Given the description of an element on the screen output the (x, y) to click on. 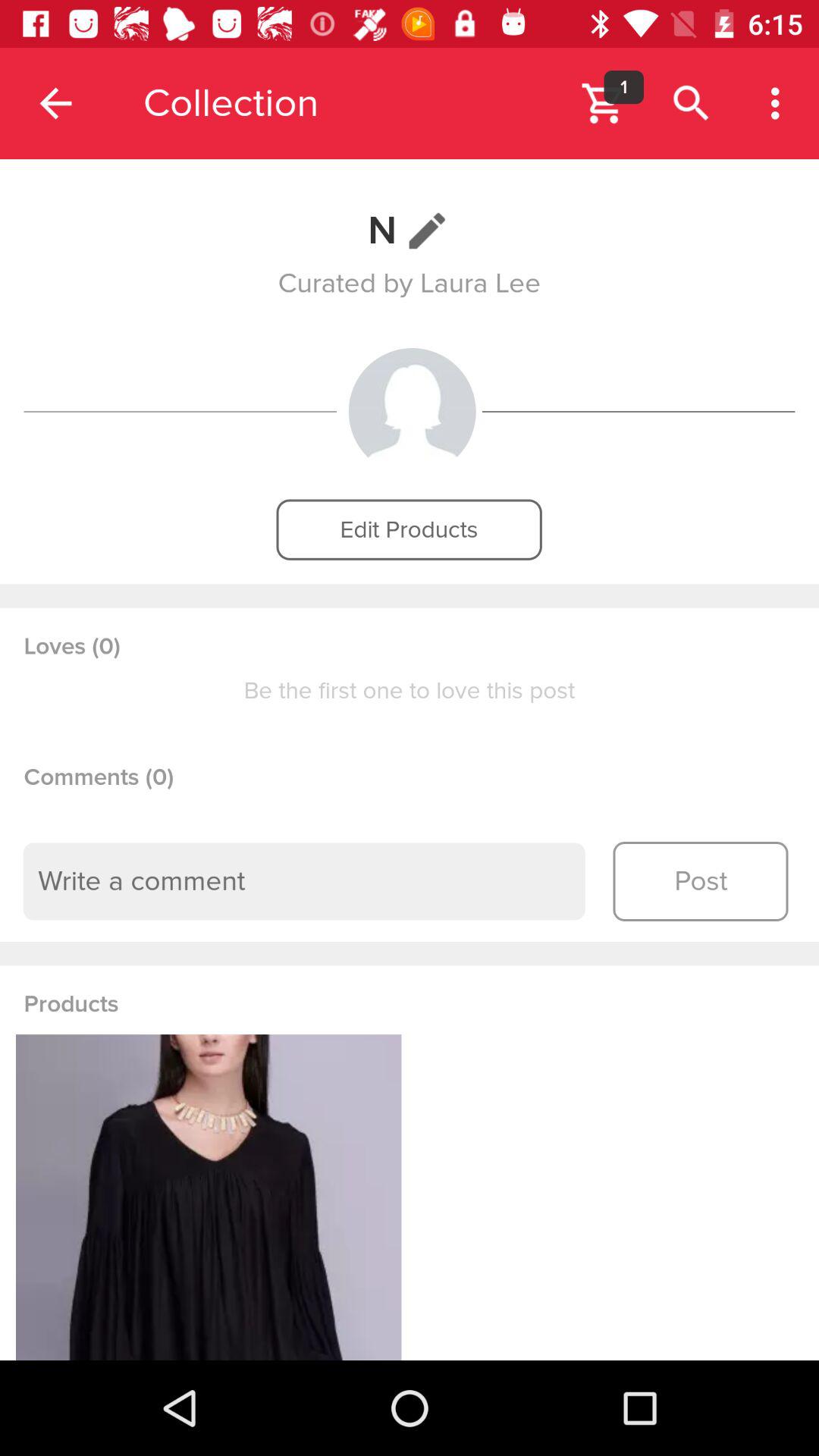
launch the icon to the right of the collection item (623, 87)
